Given the description of an element on the screen output the (x, y) to click on. 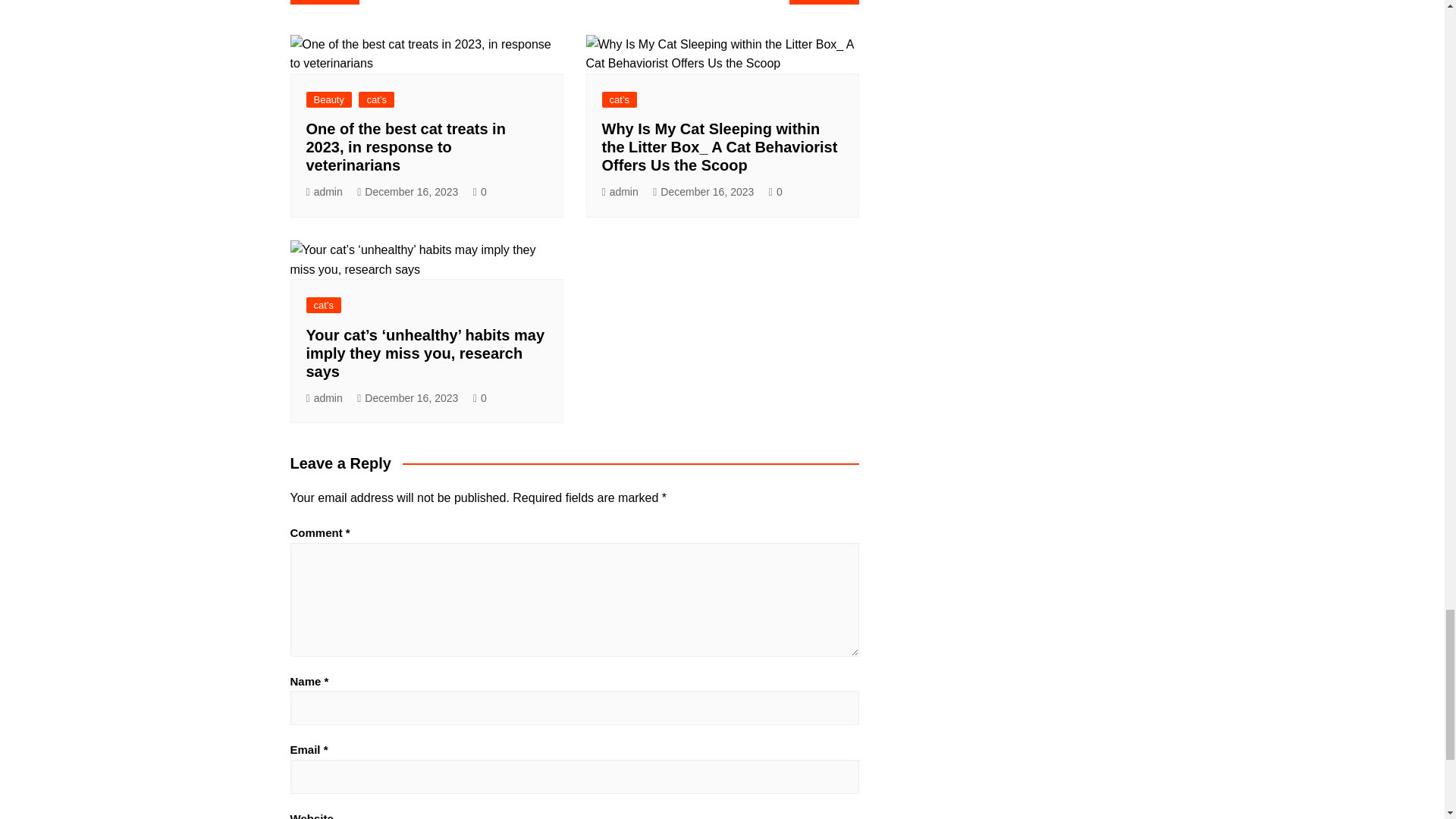
Prev (323, 2)
December 16, 2023 (407, 191)
December 16, 2023 (407, 398)
admin (323, 191)
December 16, 2023 (703, 191)
Next (824, 2)
admin (323, 398)
admin (620, 191)
Beauty (328, 99)
